Given the description of an element on the screen output the (x, y) to click on. 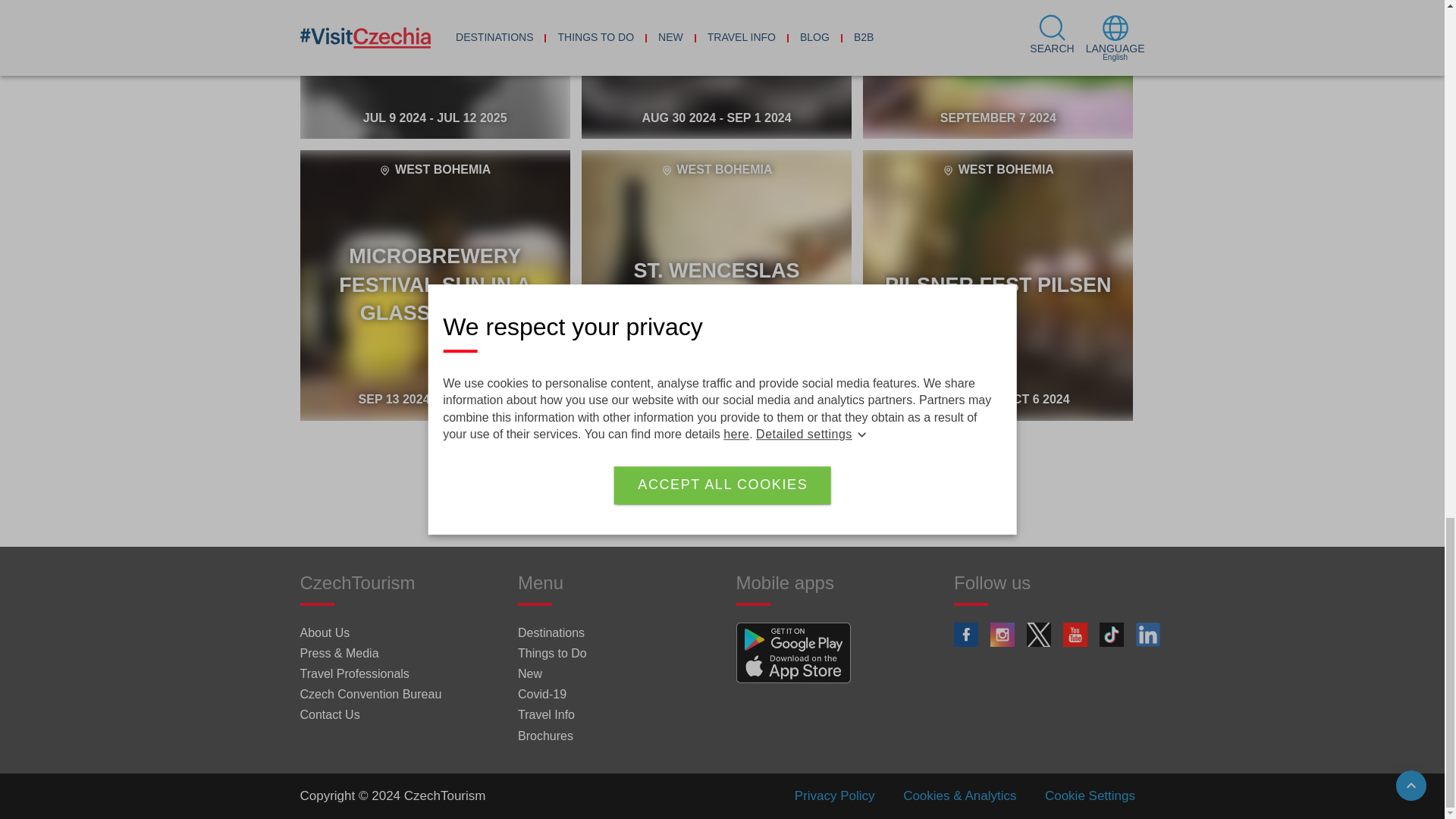
Things to Do (552, 653)
About Us (324, 632)
Travel Professionals (354, 673)
Privacy Policy (834, 796)
Czech Convention Bureau (370, 694)
Covid-19 (542, 694)
Destinations (997, 284)
